Given the description of an element on the screen output the (x, y) to click on. 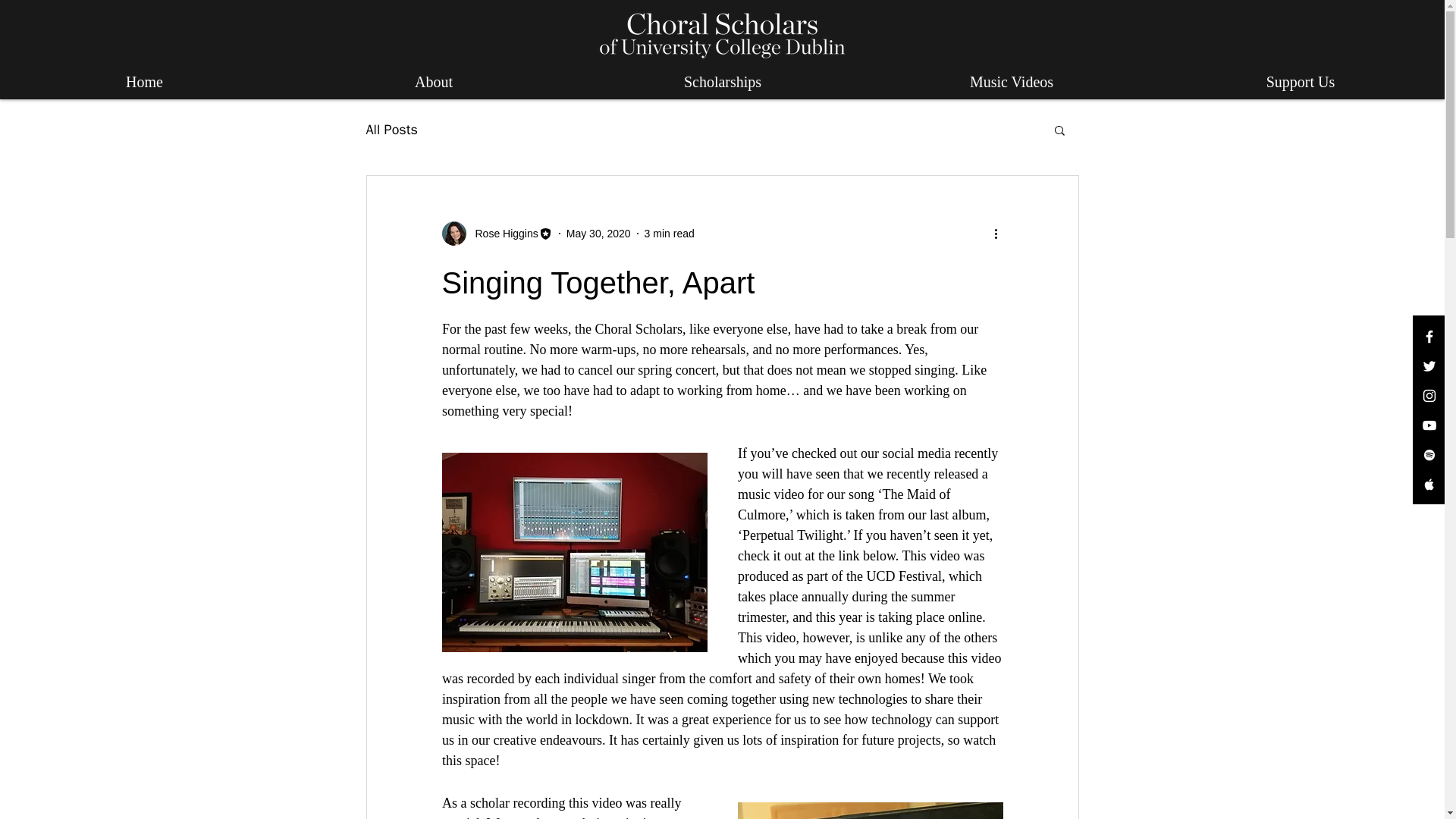
All Posts (390, 129)
May 30, 2020 (598, 233)
Scholarships (722, 82)
3 min read (669, 233)
Rose Higgins (496, 233)
Home (144, 82)
About (433, 82)
Rose Higgins (501, 233)
Music Videos (1011, 82)
